Given the description of an element on the screen output the (x, y) to click on. 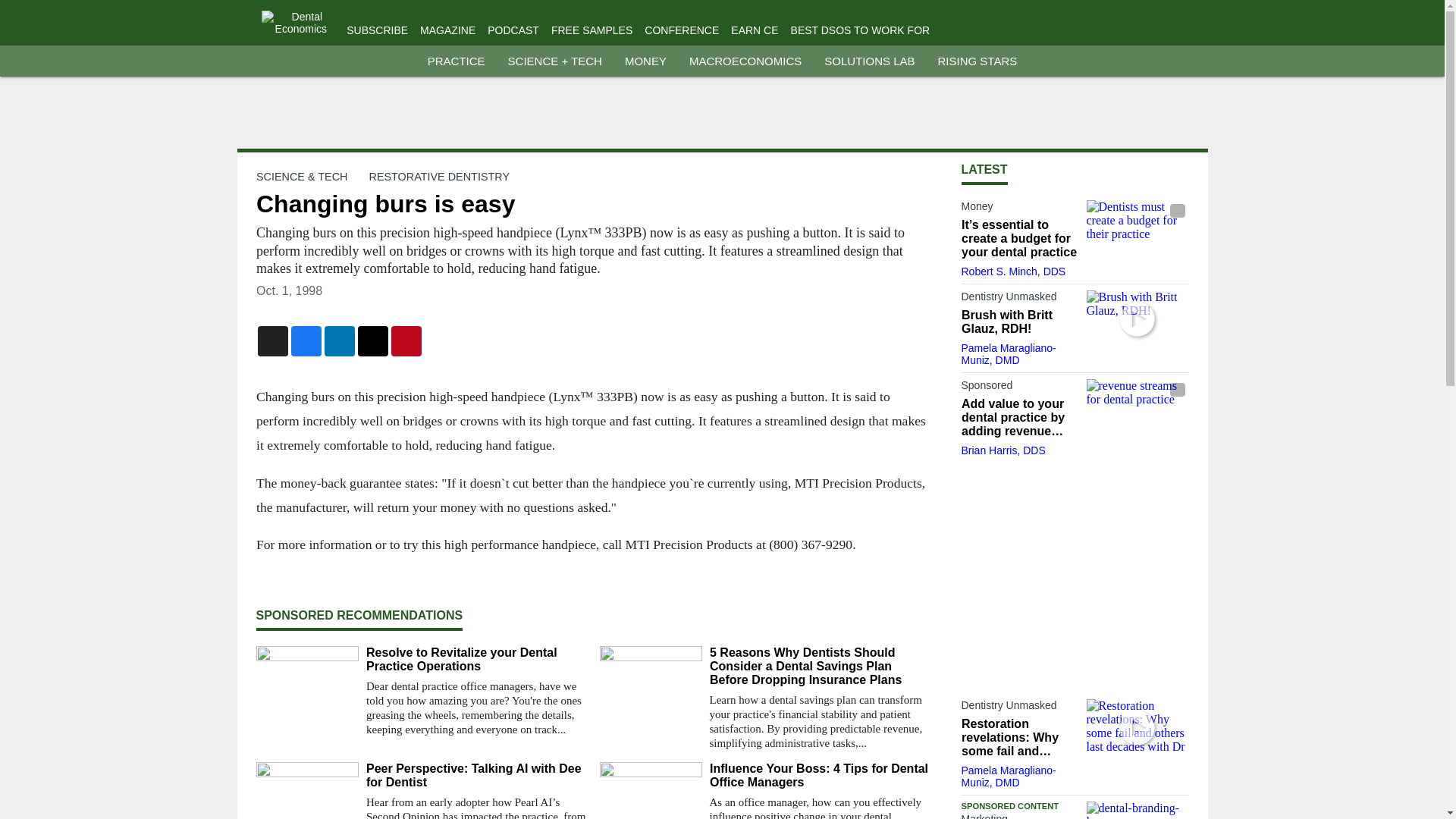
MONEY (645, 60)
Peer Perspective: Talking AI with Dee for Dentist (476, 775)
SUBSCRIBE (376, 30)
PRACTICE (456, 60)
SOLUTIONS LAB (869, 60)
revenue streams for dental practice (1137, 407)
Brush with Britt Glauz, RDH! (1137, 318)
MACROECONOMICS (745, 60)
Money (1019, 208)
Influence Your Boss: 4 Tips for Dental Office Managers (820, 775)
